Given the description of an element on the screen output the (x, y) to click on. 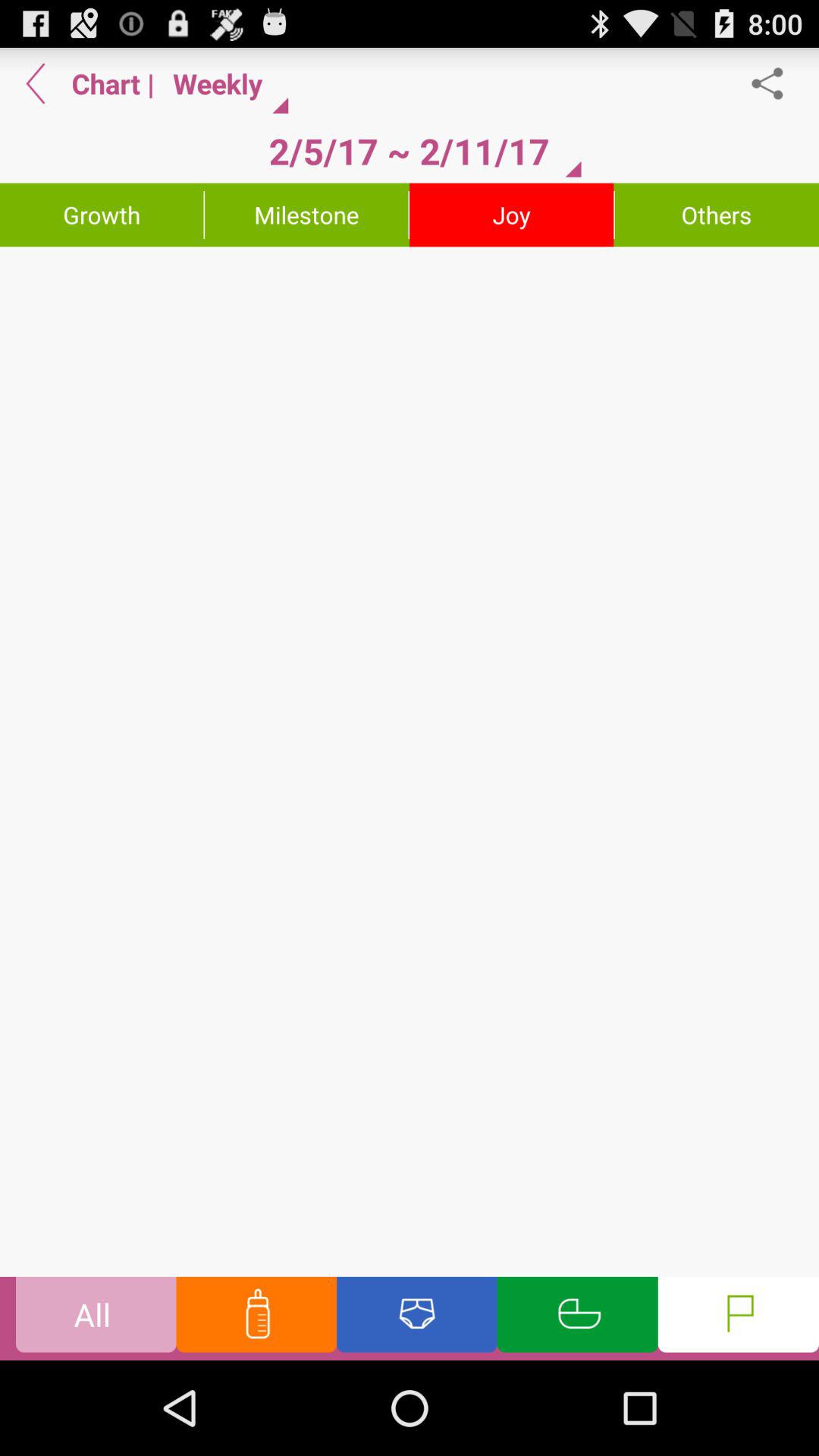
jump to the growth item (101, 214)
